Given the description of an element on the screen output the (x, y) to click on. 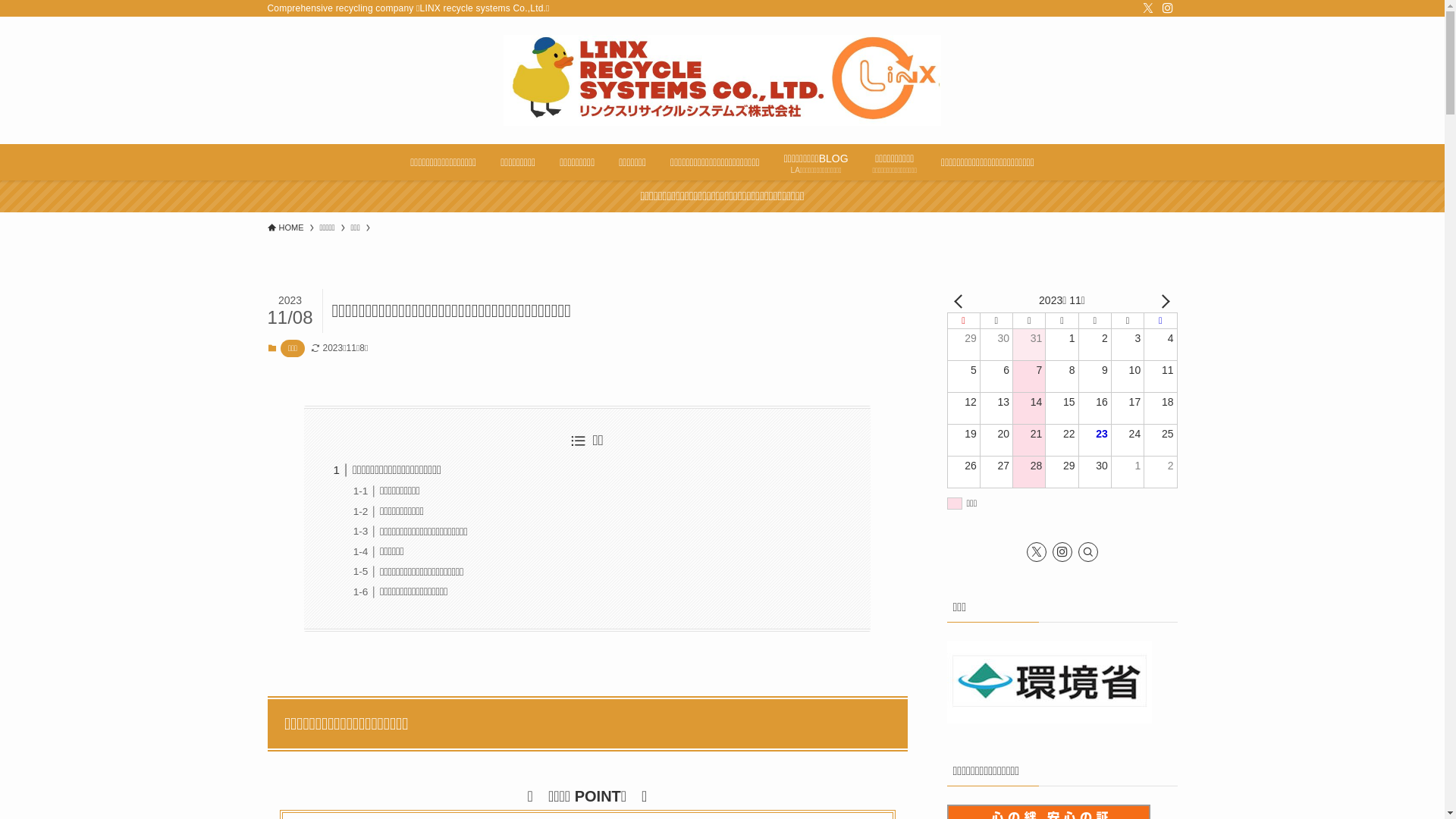
NEXT Element type: text (1162, 299)
search Element type: text (921, 421)
HOME Element type: text (284, 228)
PREV Element type: text (960, 299)
